Given the description of an element on the screen output the (x, y) to click on. 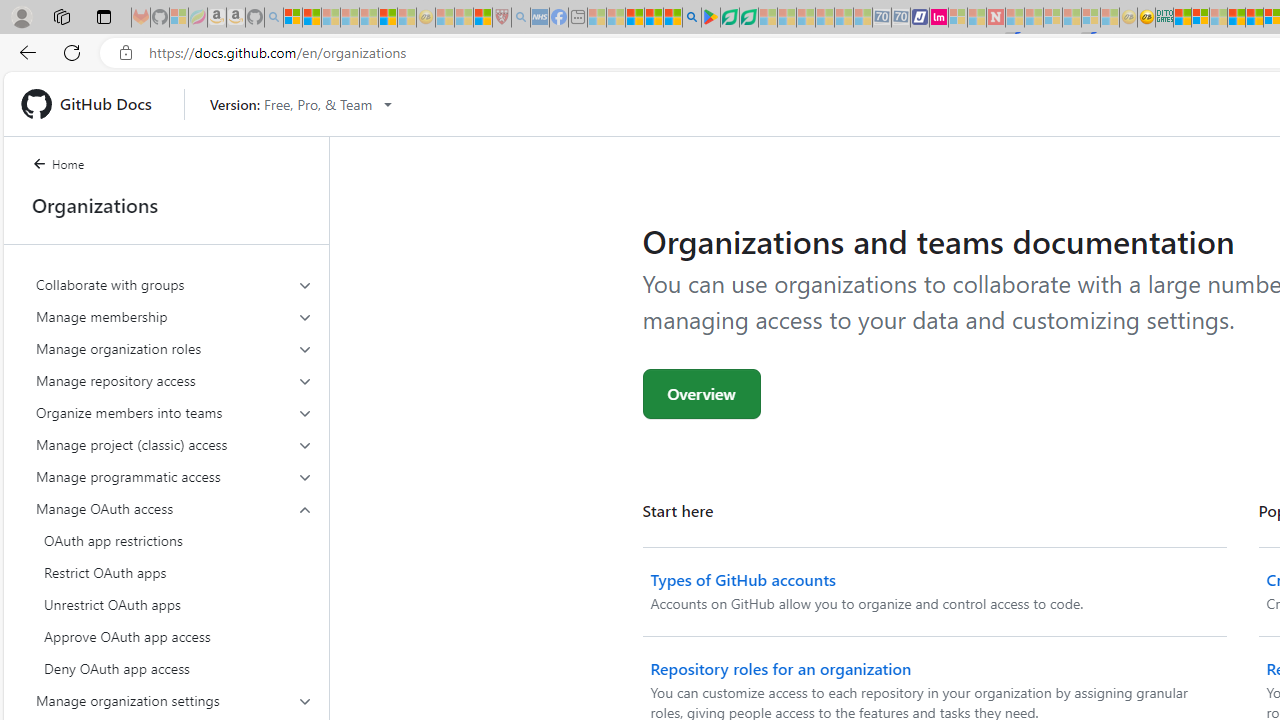
Collaborate with groups (174, 284)
The Weather Channel - MSN - Sleeping (331, 17)
Restrict OAuth apps (174, 572)
Manage organization settings (174, 700)
14 Common Myths Debunked By Scientific Facts - Sleeping (1034, 17)
Organize members into teams (174, 412)
